Given the description of an element on the screen output the (x, y) to click on. 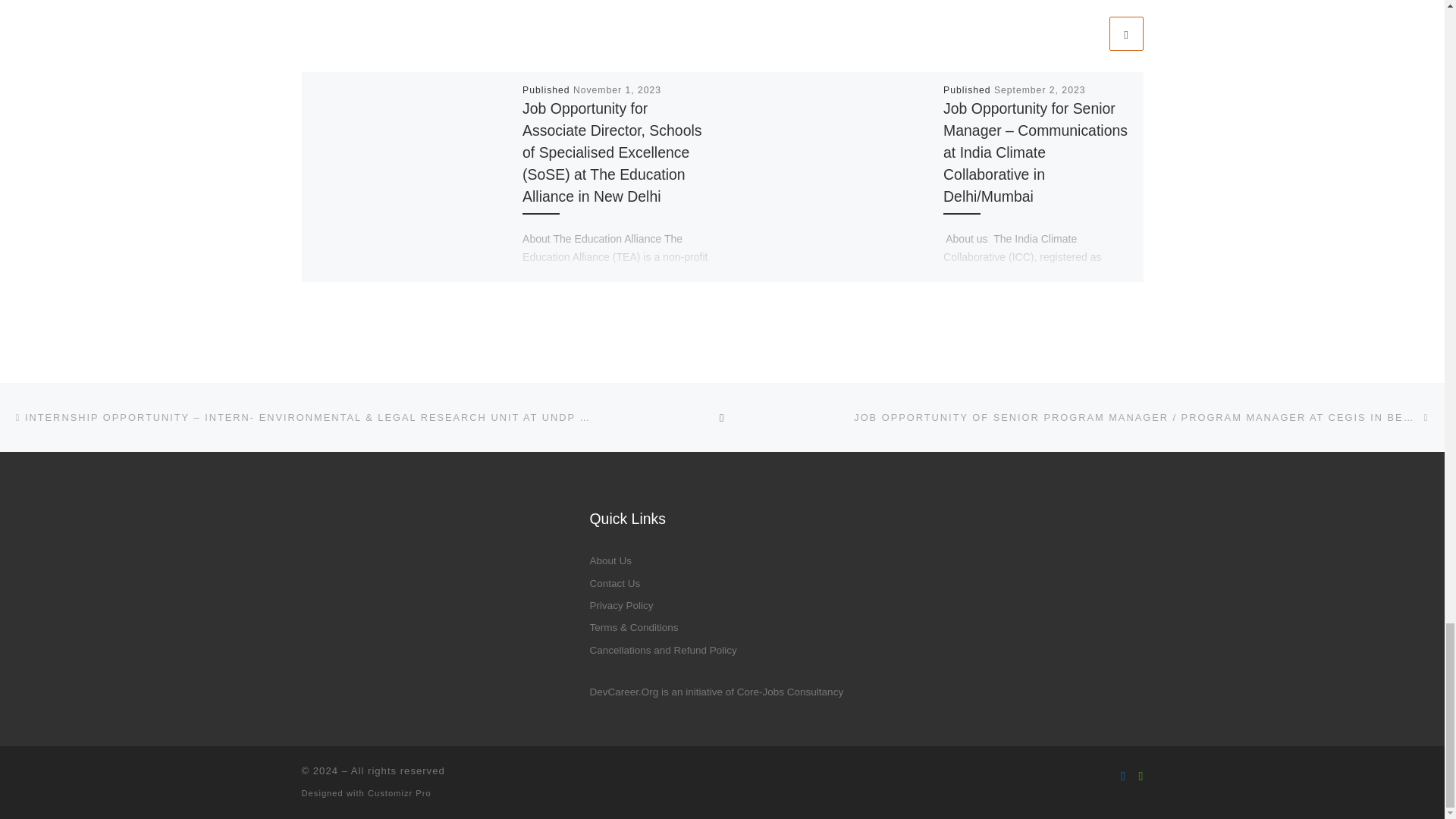
Next related articles (1125, 33)
Previous related articles (1088, 33)
